Given the description of an element on the screen output the (x, y) to click on. 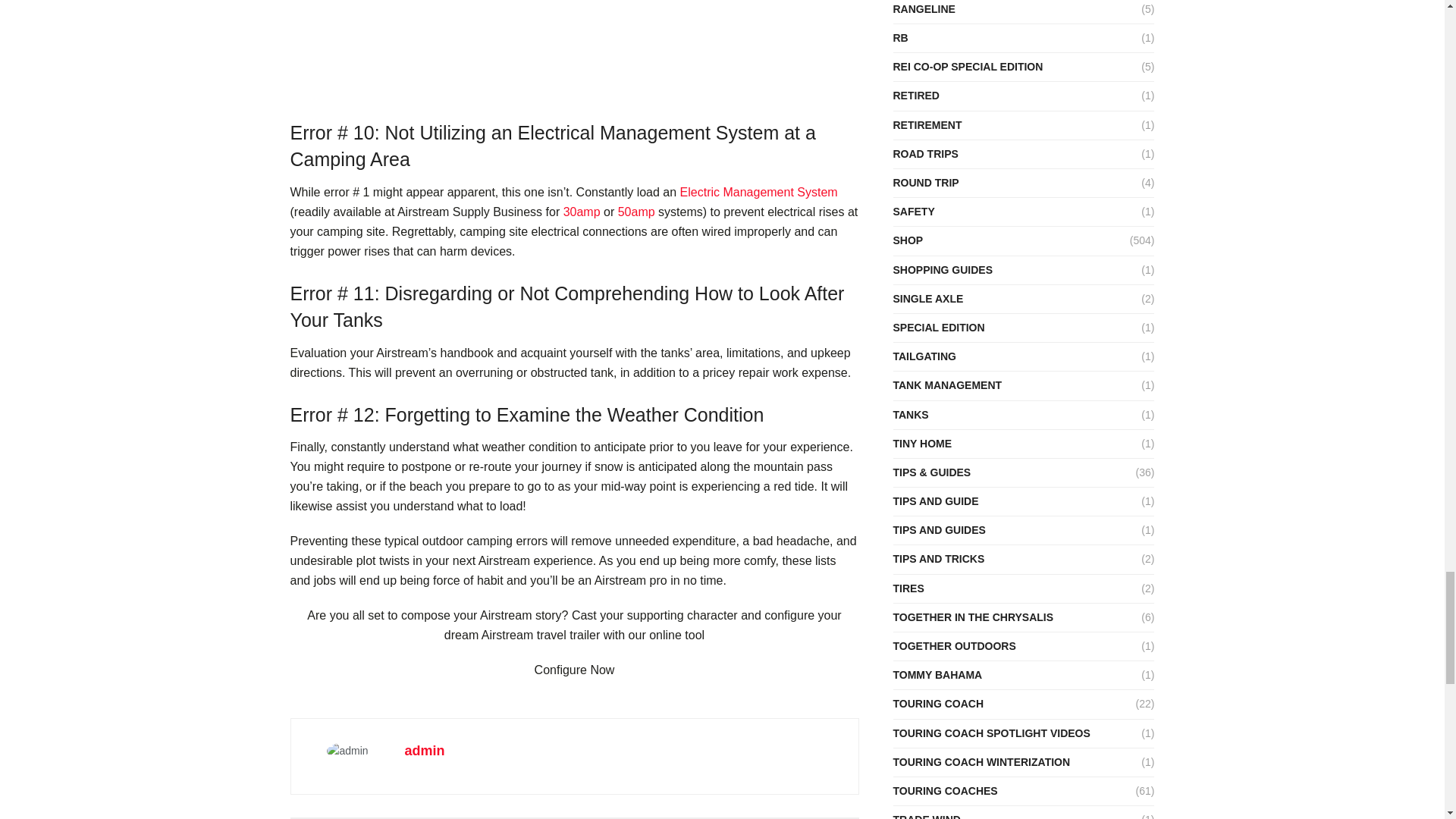
30amp (581, 211)
Electric Management System (758, 192)
50amp (636, 211)
admin (424, 750)
